Given the description of an element on the screen output the (x, y) to click on. 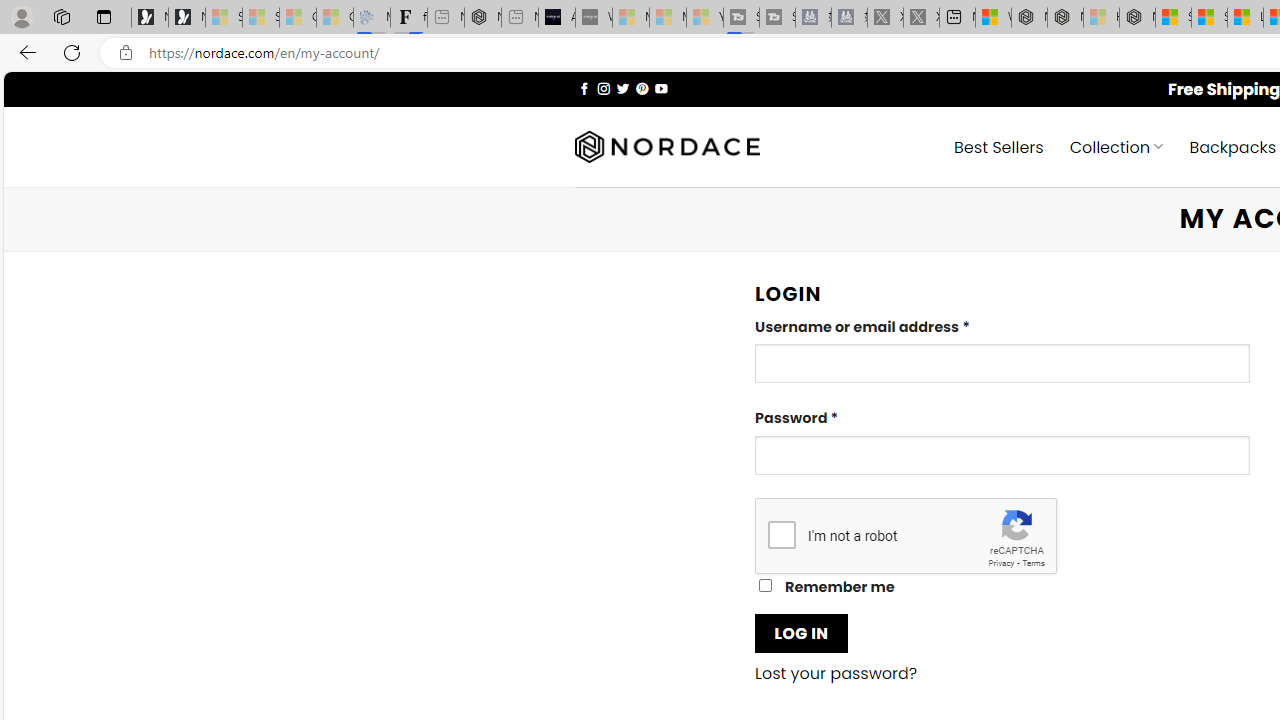
Lost your password? (836, 673)
Remember me (765, 585)
Microsoft Start Sports - Sleeping (630, 17)
I'm not a robot (782, 533)
What's the best AI voice generator? - voice.ai - Sleeping (593, 17)
AI Voice Changer for PC and Mac - Voice.ai (556, 17)
